Given the description of an element on the screen output the (x, y) to click on. 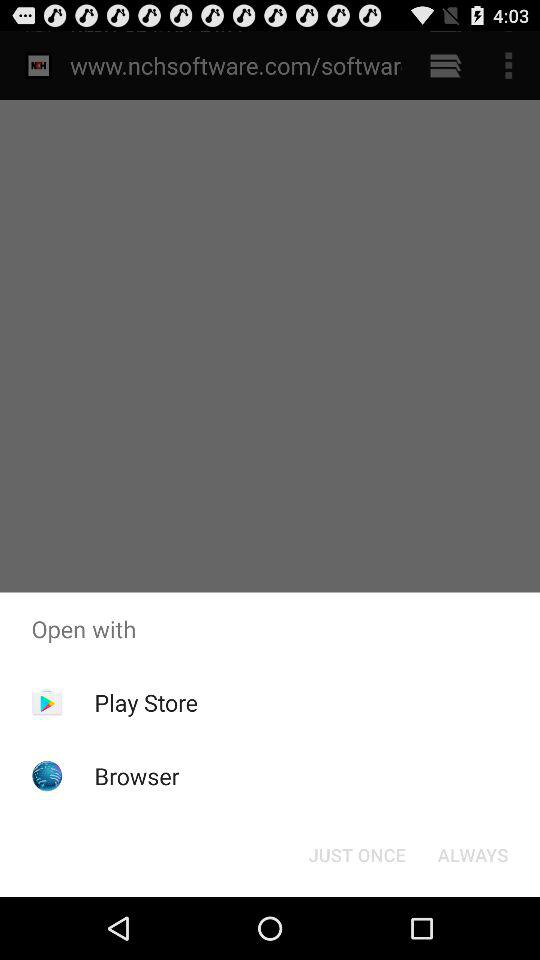
jump until the just once button (356, 854)
